Given the description of an element on the screen output the (x, y) to click on. 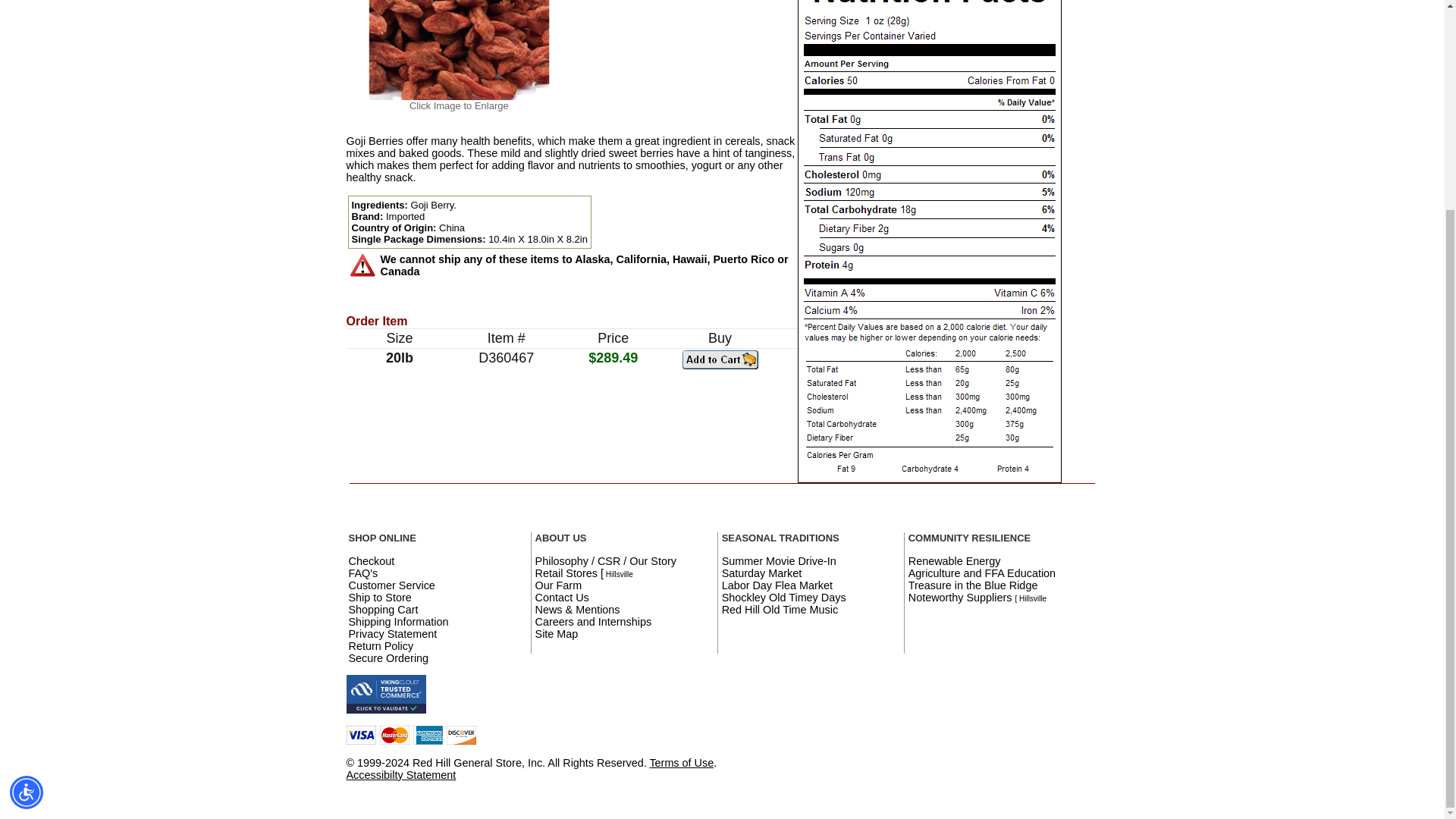
Accessibility Menu (26, 520)
